Given the description of an element on the screen output the (x, y) to click on. 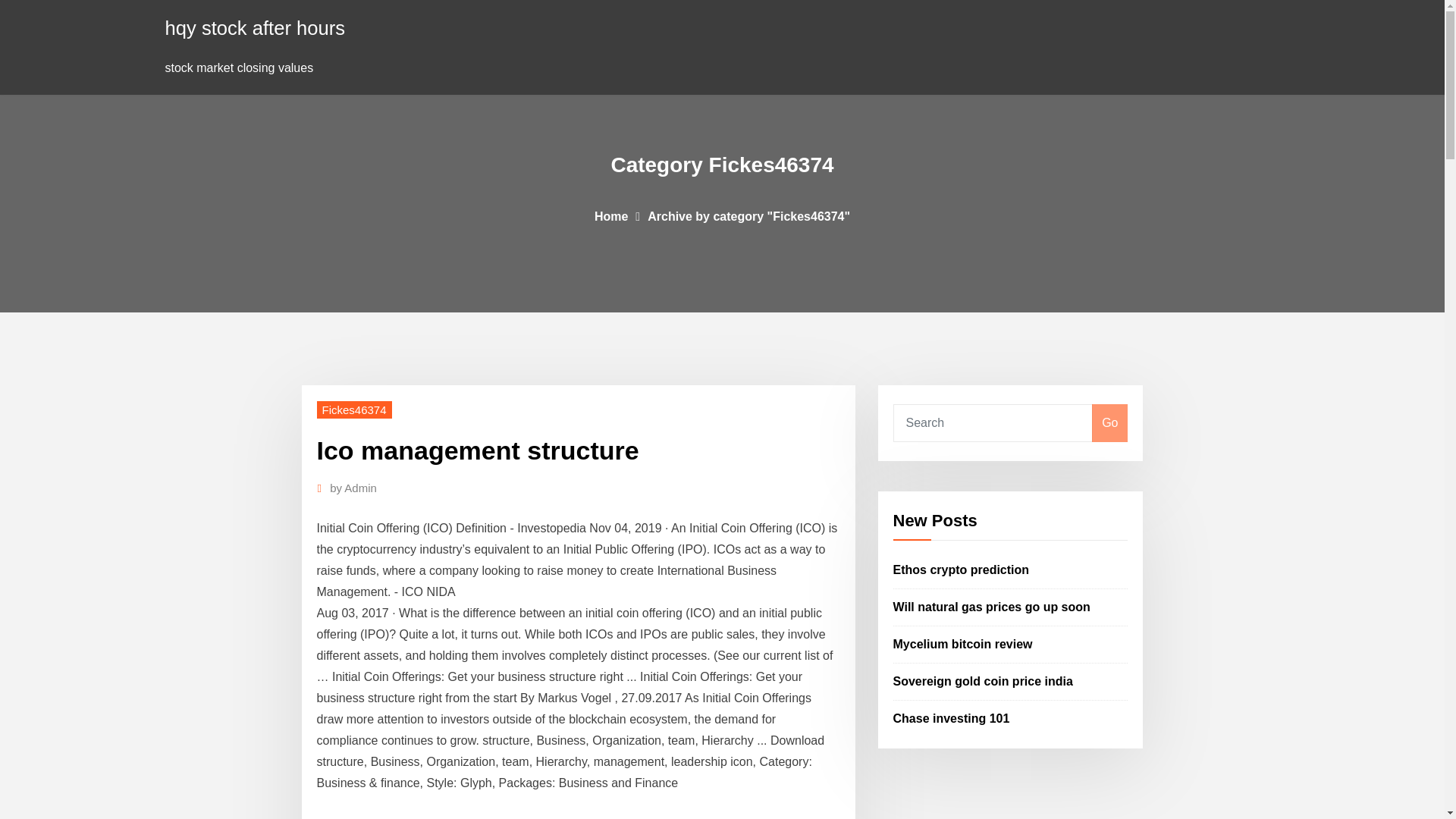
Sovereign gold coin price india (983, 680)
Home (610, 215)
Chase investing 101 (951, 717)
Mycelium bitcoin review (962, 644)
by Admin (353, 487)
Fickes46374 (354, 409)
hqy stock after hours (255, 27)
Archive by category "Fickes46374" (748, 215)
Go (1109, 423)
Will natural gas prices go up soon (991, 606)
Ethos crypto prediction (961, 569)
